Given the description of an element on the screen output the (x, y) to click on. 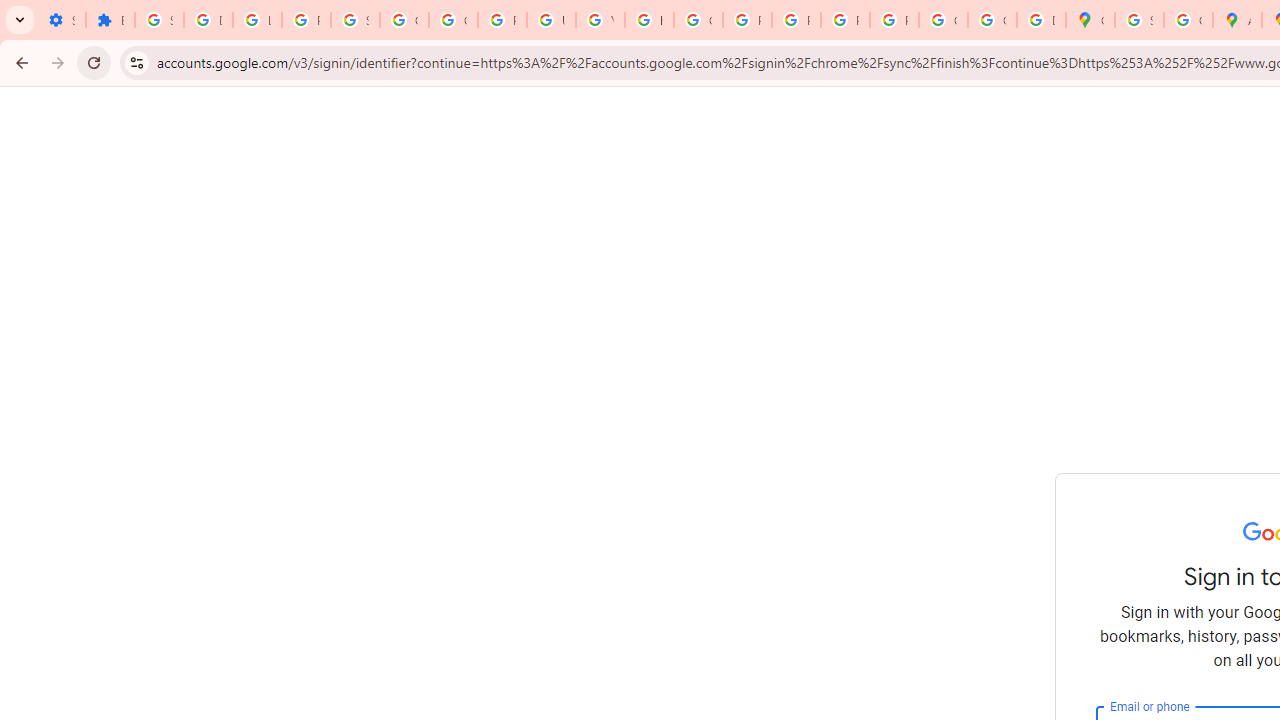
Google Account Help (404, 20)
